Given the description of an element on the screen output the (x, y) to click on. 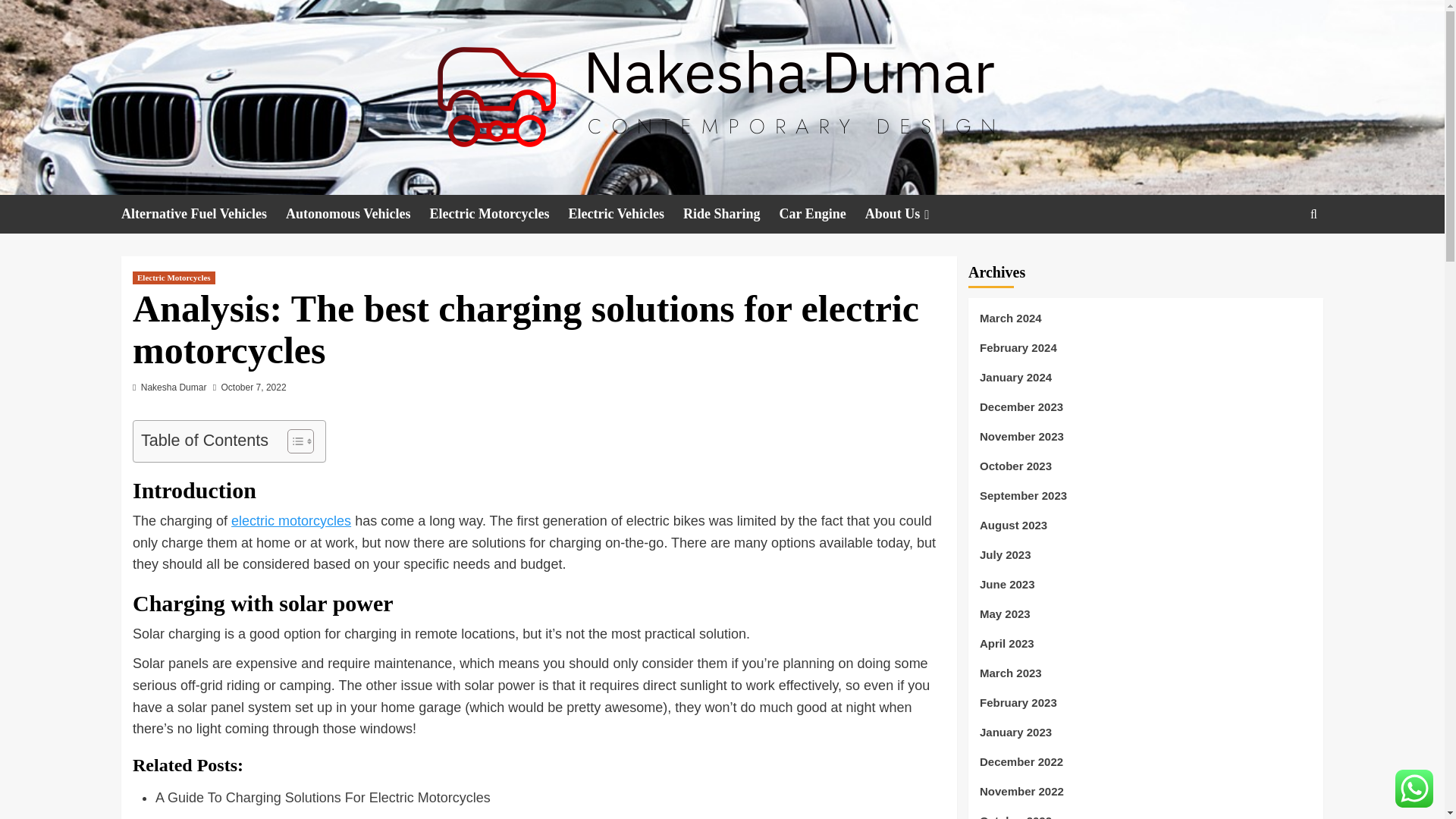
Electric Motorcycles (173, 277)
About Us (908, 213)
Alternative Fuel Vehicles (202, 213)
Ride Sharing (730, 213)
Search (1278, 261)
Car Engine (821, 213)
A Guide To Charging Solutions For Electric Motorcycles (322, 797)
Electric Vehicles (625, 213)
Electric Motorcycles (499, 213)
electric motorcycles (290, 520)
Nakesha Dumar (173, 387)
Autonomous Vehicles (357, 213)
October 7, 2022 (253, 387)
